Given the description of an element on the screen output the (x, y) to click on. 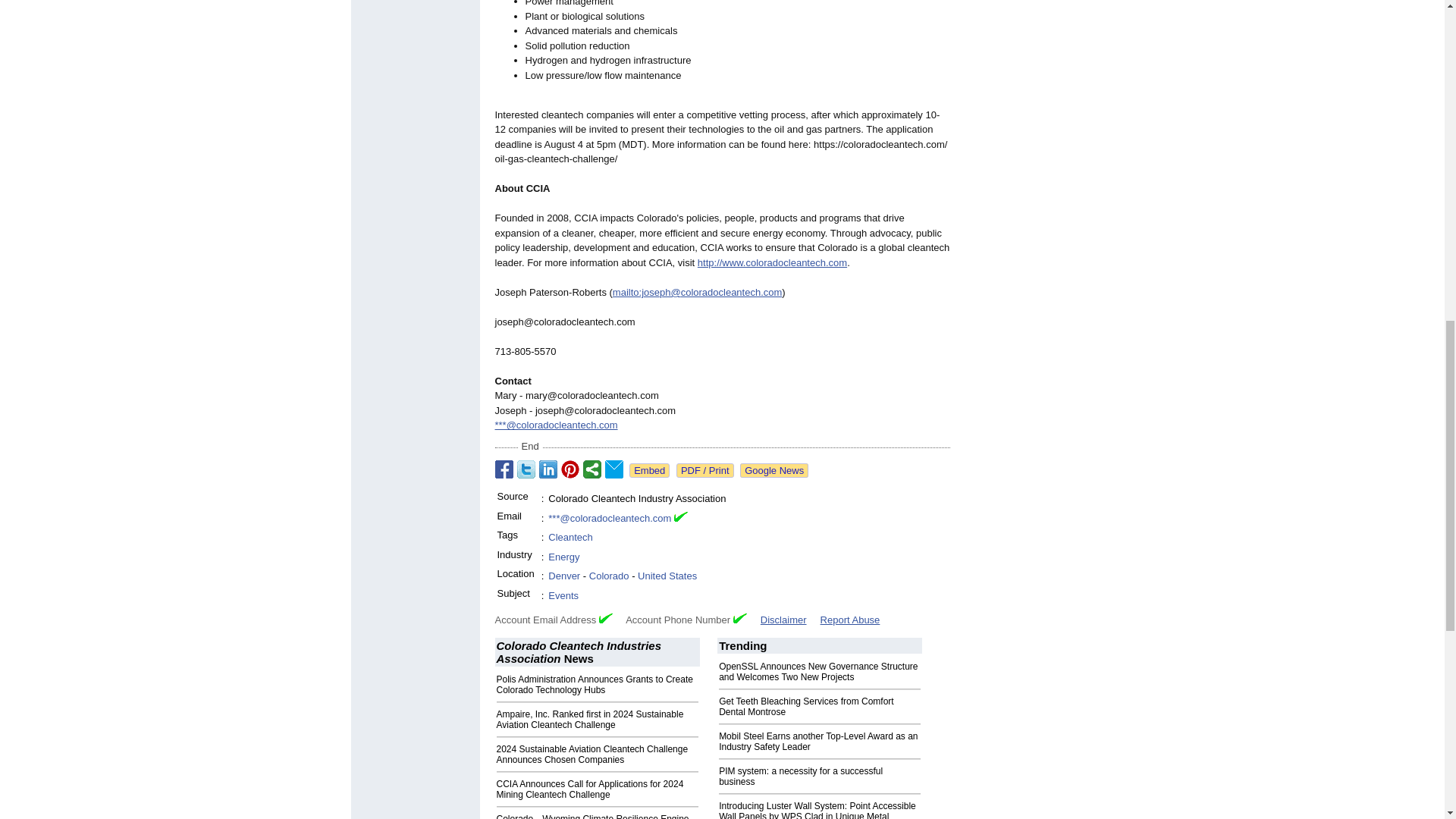
See or print the PDF version! (705, 470)
Email Verified (680, 518)
Email to a Friend (614, 469)
Embed this press release in your website! (648, 470)
Share on LinkedIn (547, 469)
Verified (605, 618)
Embed (648, 470)
Verified (739, 618)
Share on Facebook (503, 469)
Share on Pinterest (569, 469)
Share on StumbleUpon, Digg, etc (590, 469)
Share on Twitter (525, 469)
